Given the description of an element on the screen output the (x, y) to click on. 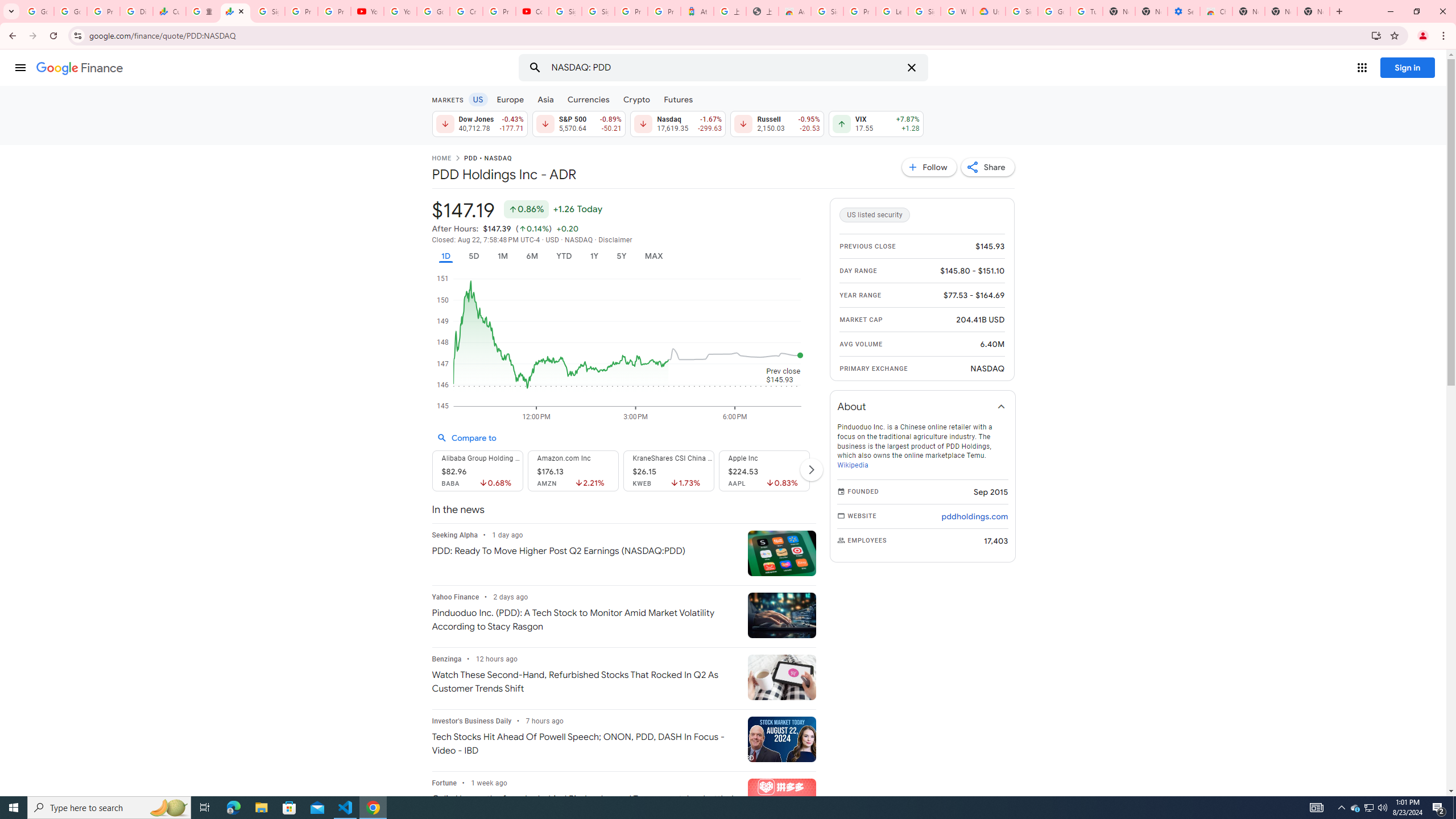
US (477, 99)
S&P 500 5,570.64 Down by 0.89% -50.21 (578, 123)
5D (473, 255)
Google Account Help (1053, 11)
Awesome Screen Recorder & Screenshot - Chrome Web Store (794, 11)
Atour Hotel - Google hotels (697, 11)
Finance (79, 68)
Search for stocks, ETFs & more (724, 67)
Settings - Accessibility (1183, 11)
